Given the description of an element on the screen output the (x, y) to click on. 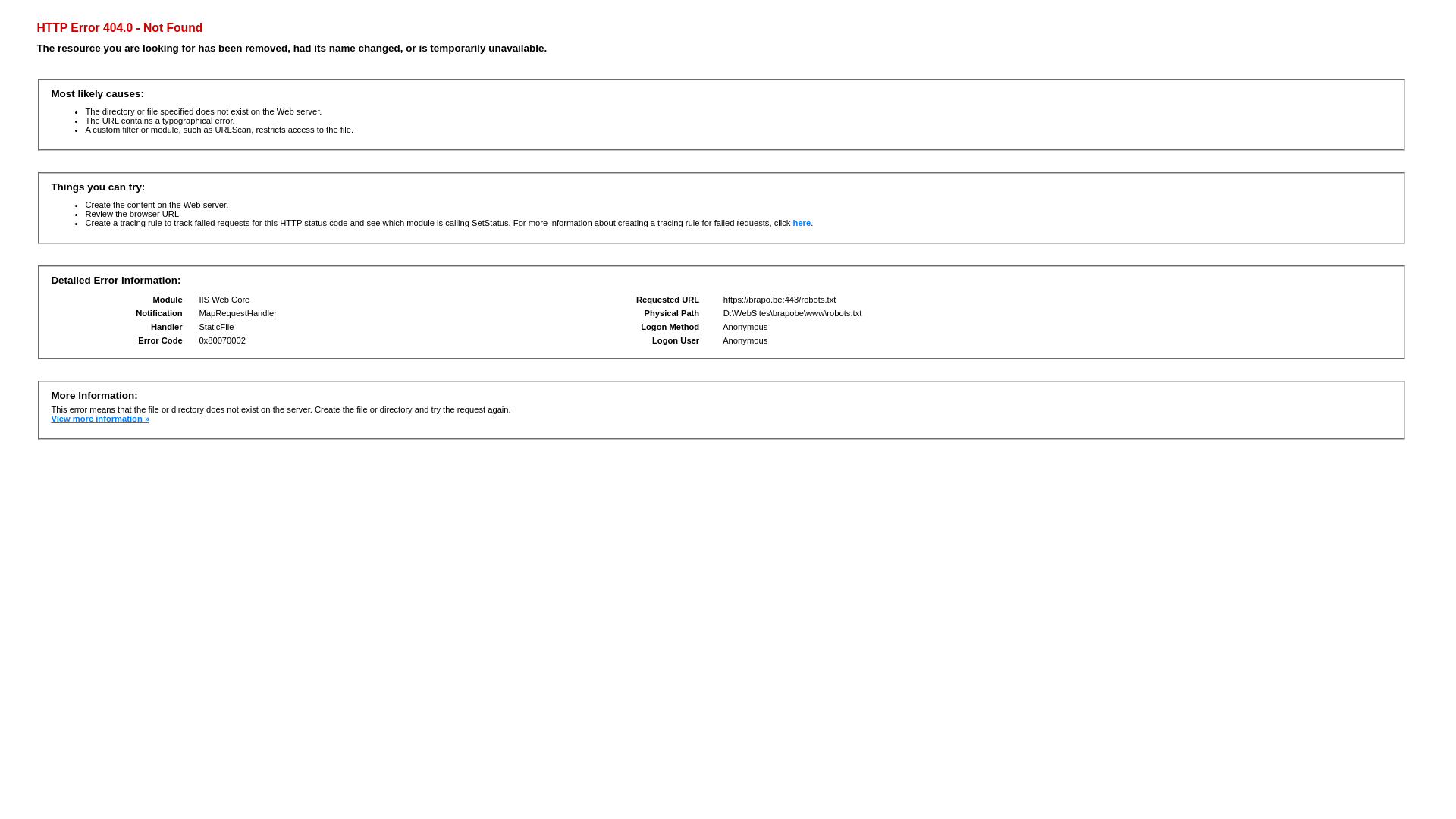
here Element type: text (802, 222)
